Given the description of an element on the screen output the (x, y) to click on. 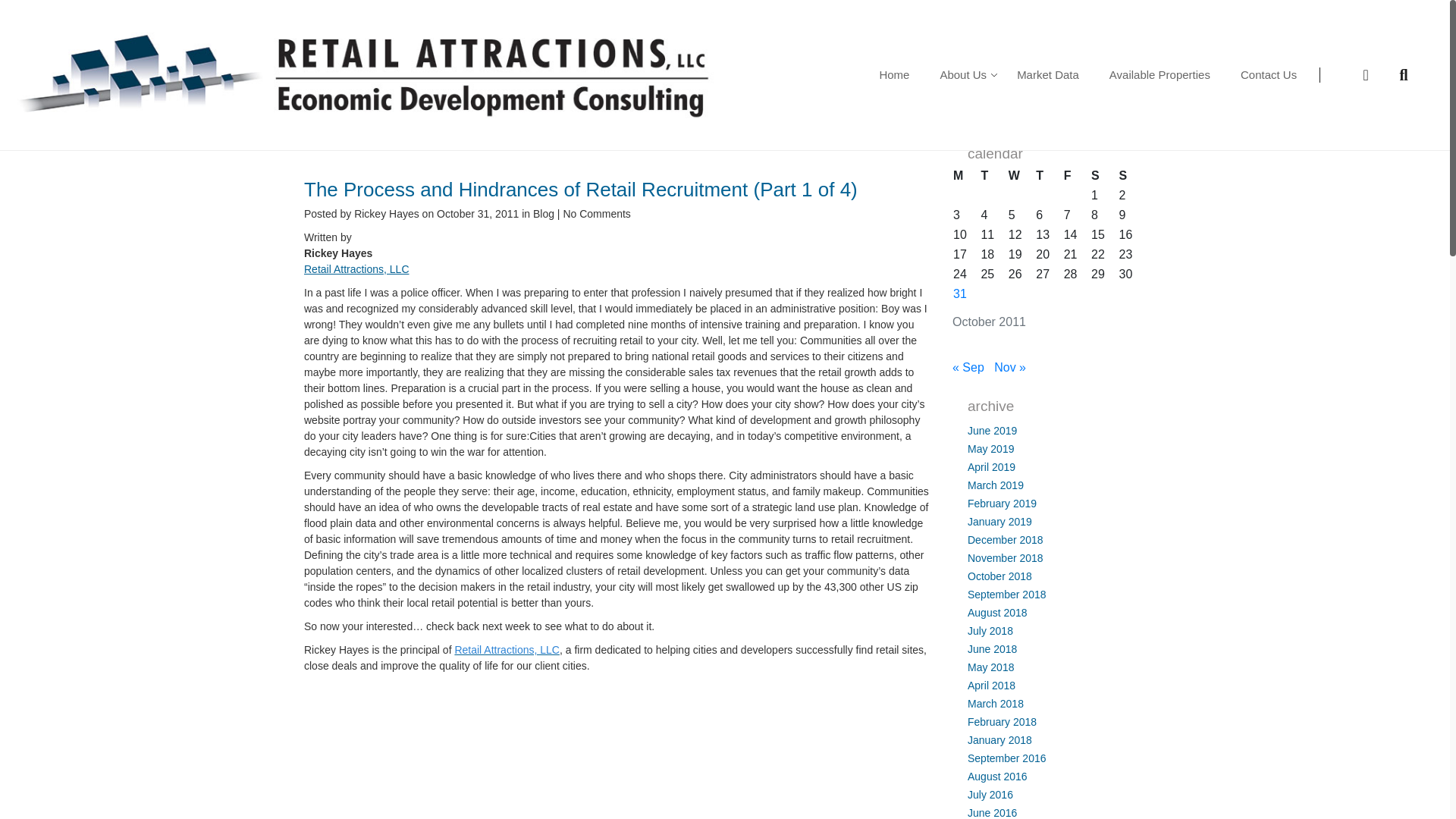
January 2018 (1000, 739)
Retail Attractions, LLC (356, 268)
December 2018 (1005, 539)
June 2018 (992, 648)
March 2018 (995, 703)
Monday (965, 175)
June 2019 (992, 430)
31 (959, 293)
Saturday (1104, 175)
Retail Attractions, LLC (506, 649)
May 2019 (990, 449)
May 2018 (990, 666)
February 2018 (1002, 721)
March 2019 (995, 485)
February 2019 (1002, 503)
